Given the description of an element on the screen output the (x, y) to click on. 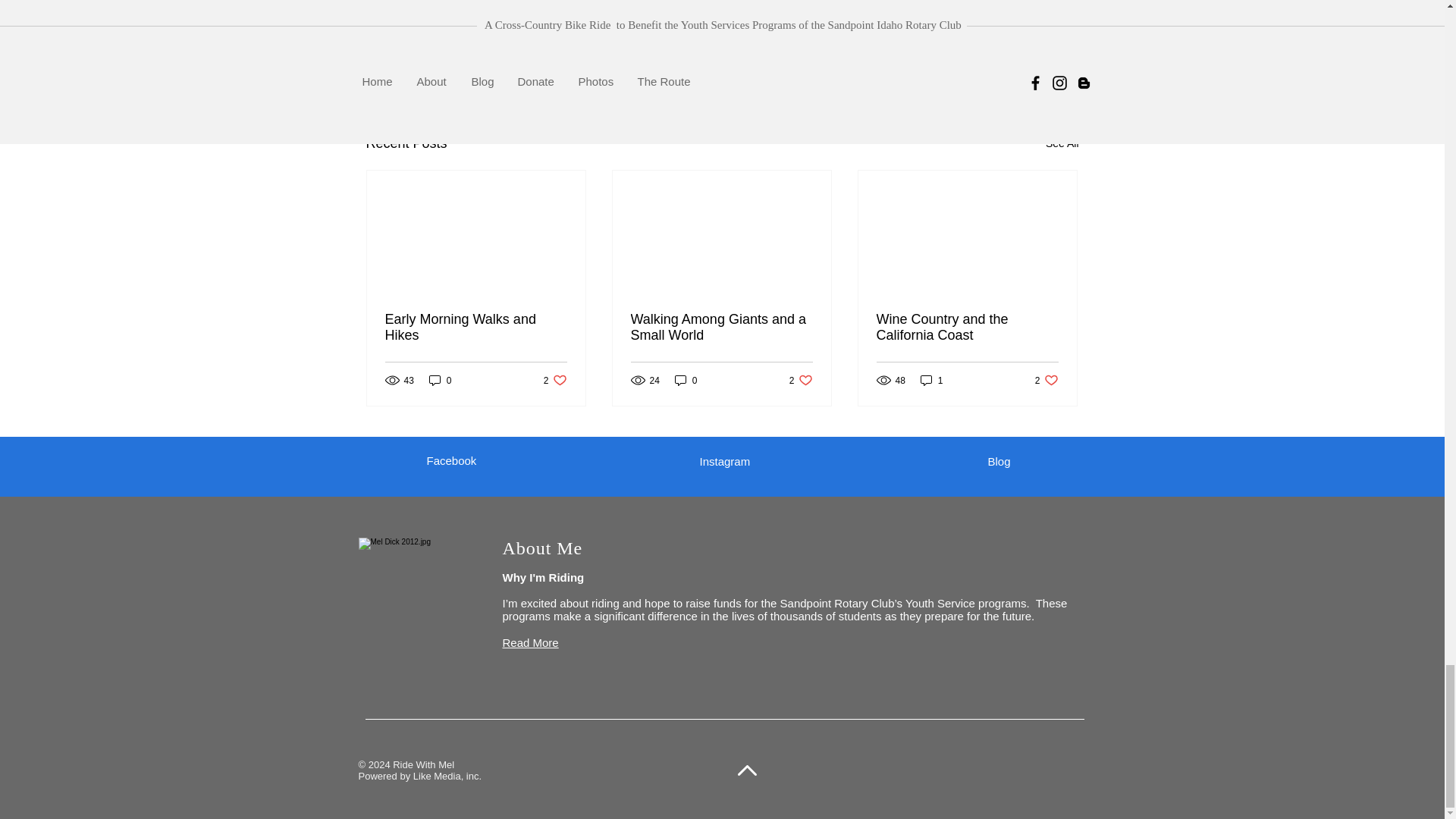
Early Morning Walks and Hikes (476, 327)
Post not marked as liked (995, 60)
0 (440, 380)
1 (931, 380)
Wine Country and the California Coast (967, 327)
Facebook (451, 460)
0 (1046, 380)
Walking Among Giants and a Small World (685, 380)
See All (721, 327)
Like Media, inc. (1061, 143)
Read More (447, 776)
Blog (529, 642)
Instagram (998, 461)
